Given the description of an element on the screen output the (x, y) to click on. 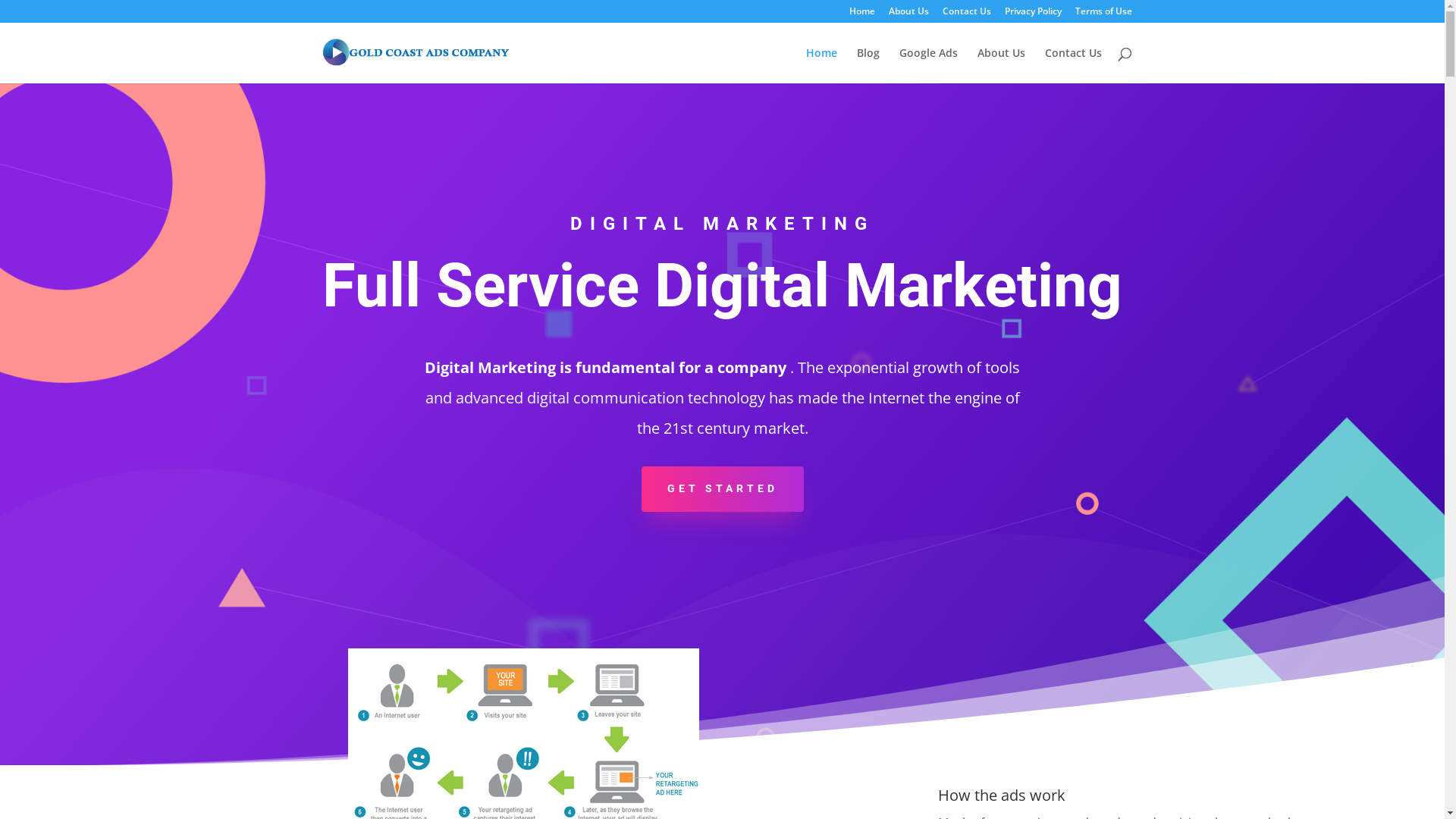
Contact Us Element type: text (965, 14)
Privacy Policy Element type: text (1032, 14)
Blog Element type: text (867, 65)
Terms of Use Element type: text (1103, 14)
Home Element type: text (820, 65)
Home Element type: text (862, 14)
GET STARTED Element type: text (722, 488)
About Us Element type: text (1000, 65)
Google Ads Element type: text (928, 65)
Contact Us Element type: text (1072, 65)
About Us Element type: text (908, 14)
